Given the description of an element on the screen output the (x, y) to click on. 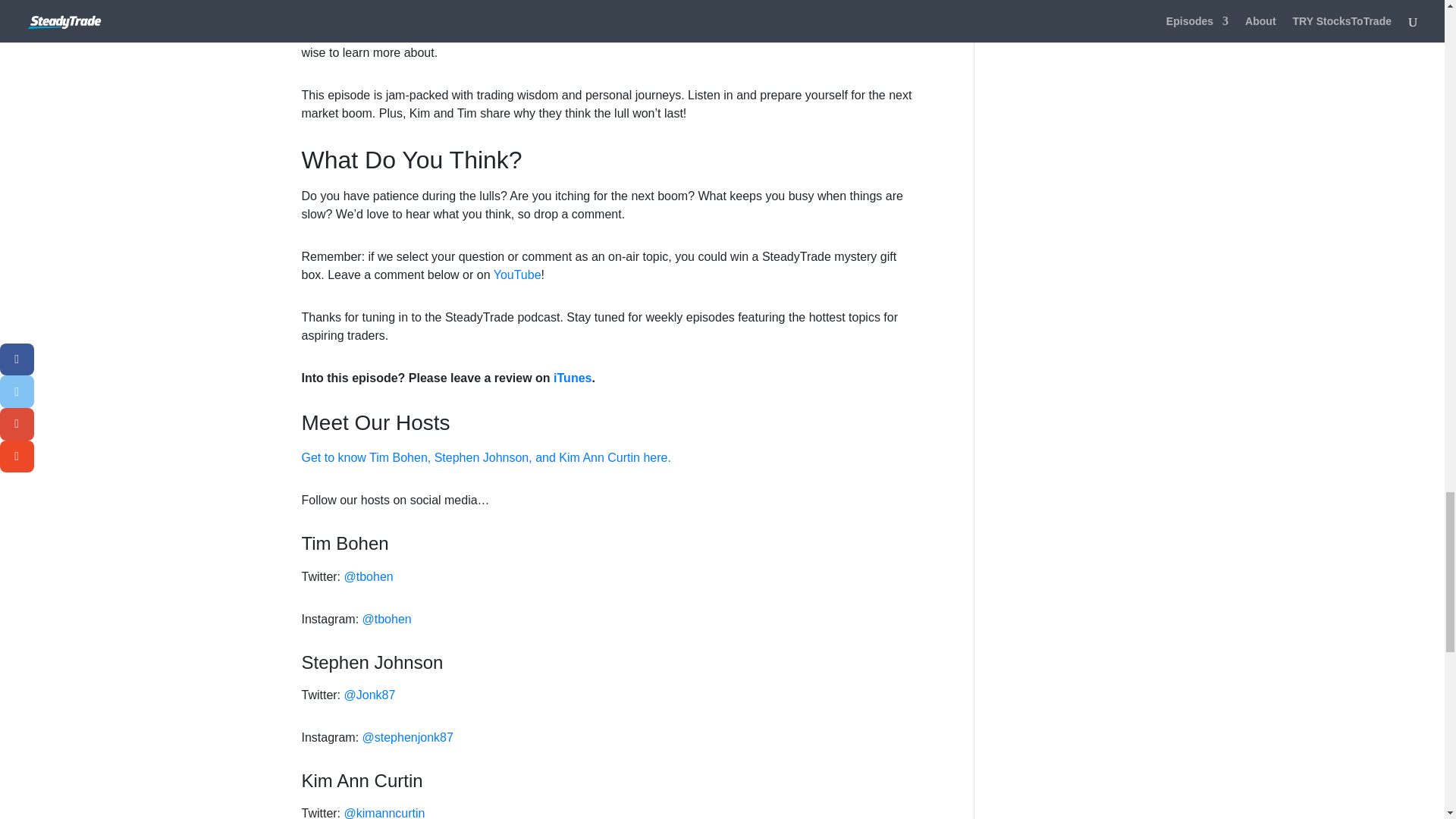
iTunes (572, 377)
YouTube (517, 274)
